Given the description of an element on the screen output the (x, y) to click on. 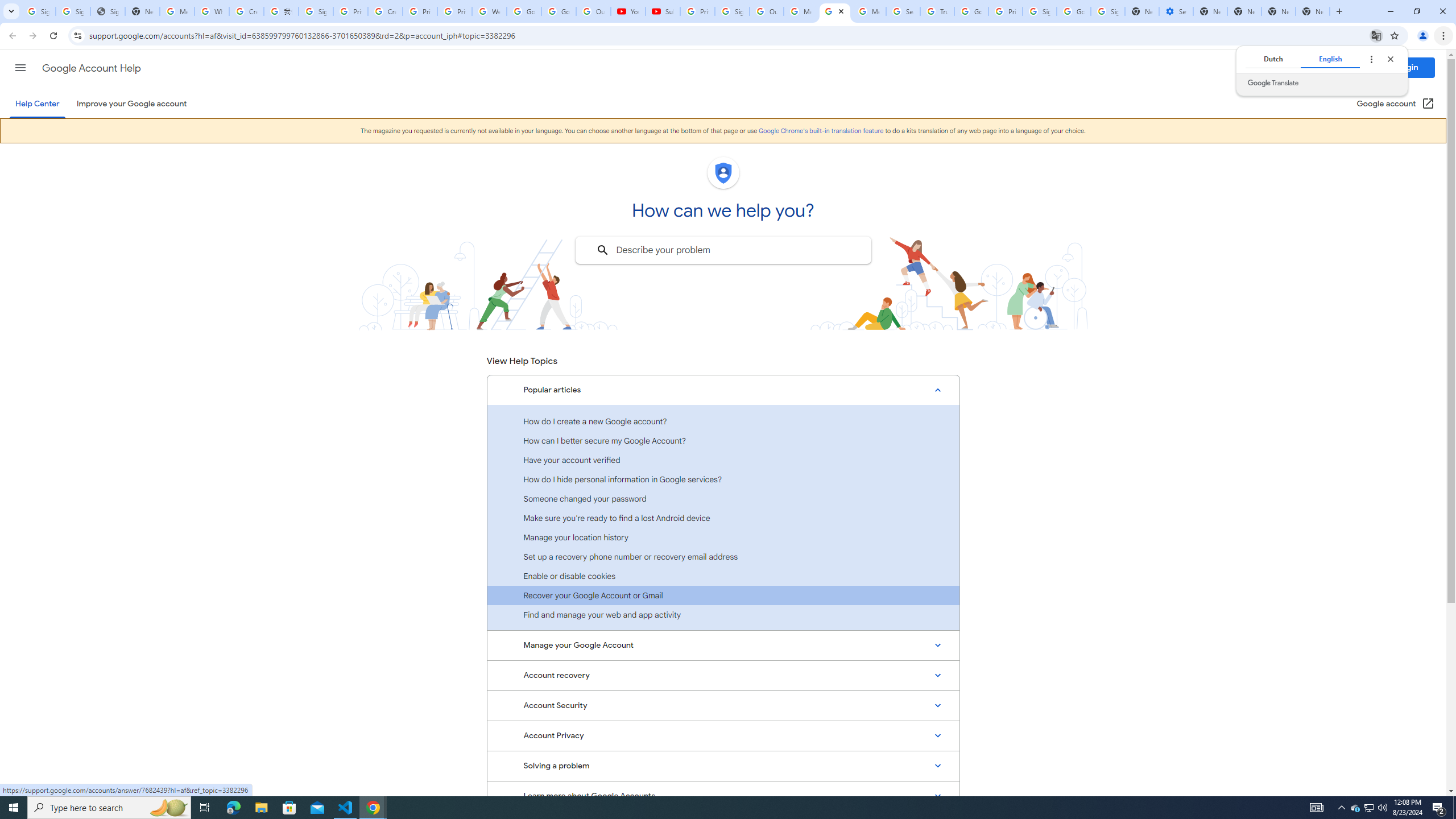
Translate this page (1376, 35)
Dutch (1272, 58)
Account recovery (722, 675)
Learn more about Google Accounts (722, 795)
Set up a recovery phone number or recovery email address (722, 556)
How do I create a new Google account? (722, 420)
Login (1407, 67)
